Given the description of an element on the screen output the (x, y) to click on. 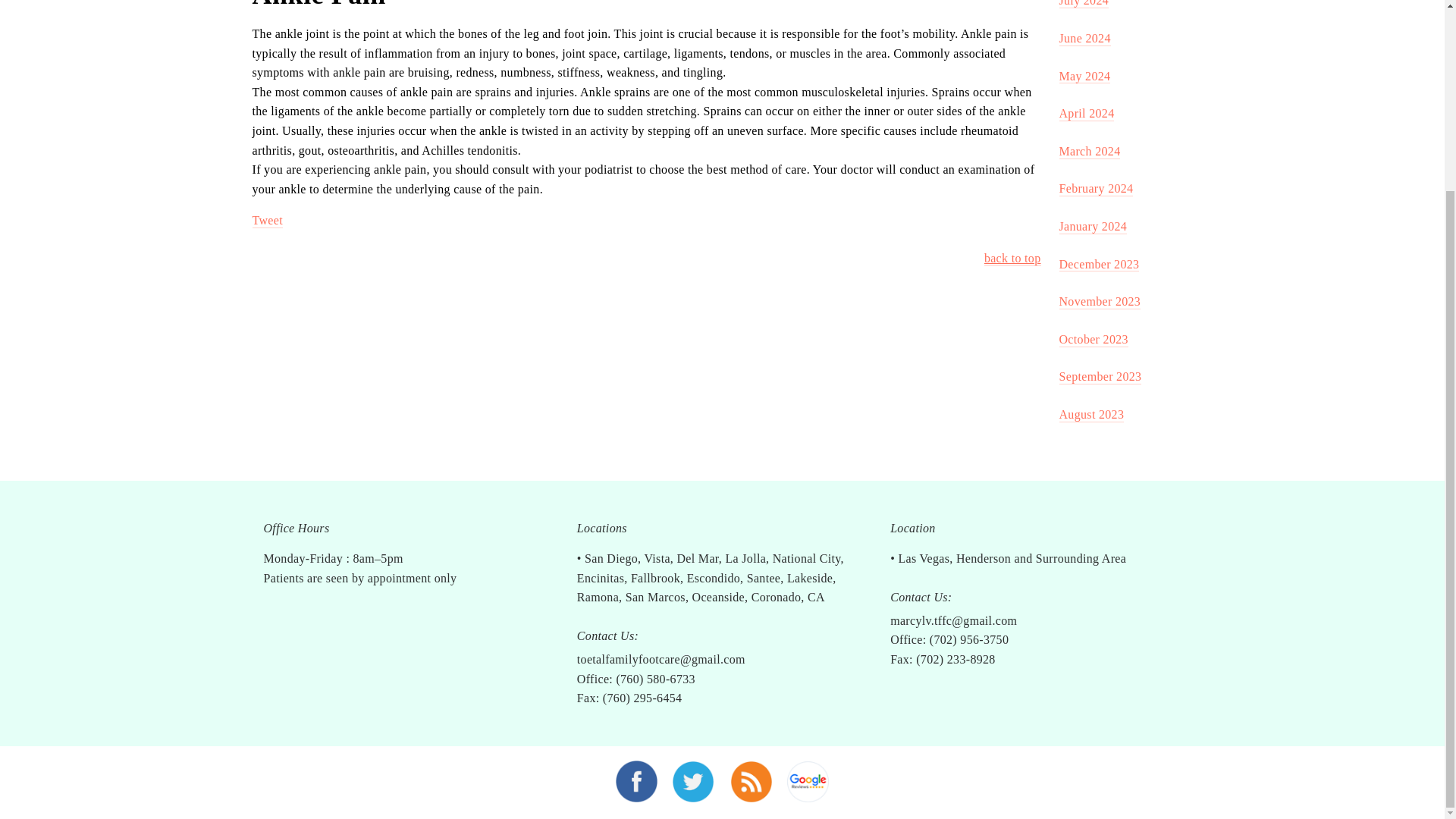
April 2024 (1085, 114)
Follow us on Twitter (693, 780)
Follow us on Facebook (636, 779)
January 2024 (1092, 227)
July 2024 (1083, 4)
November 2023 (1099, 301)
June 2024 (1083, 38)
February 2024 (1095, 188)
May 2024 (1083, 76)
back to top (1012, 258)
December 2023 (1098, 264)
March 2024 (1088, 151)
October 2023 (1092, 339)
Tweet (266, 220)
Review Us (807, 780)
